Given the description of an element on the screen output the (x, y) to click on. 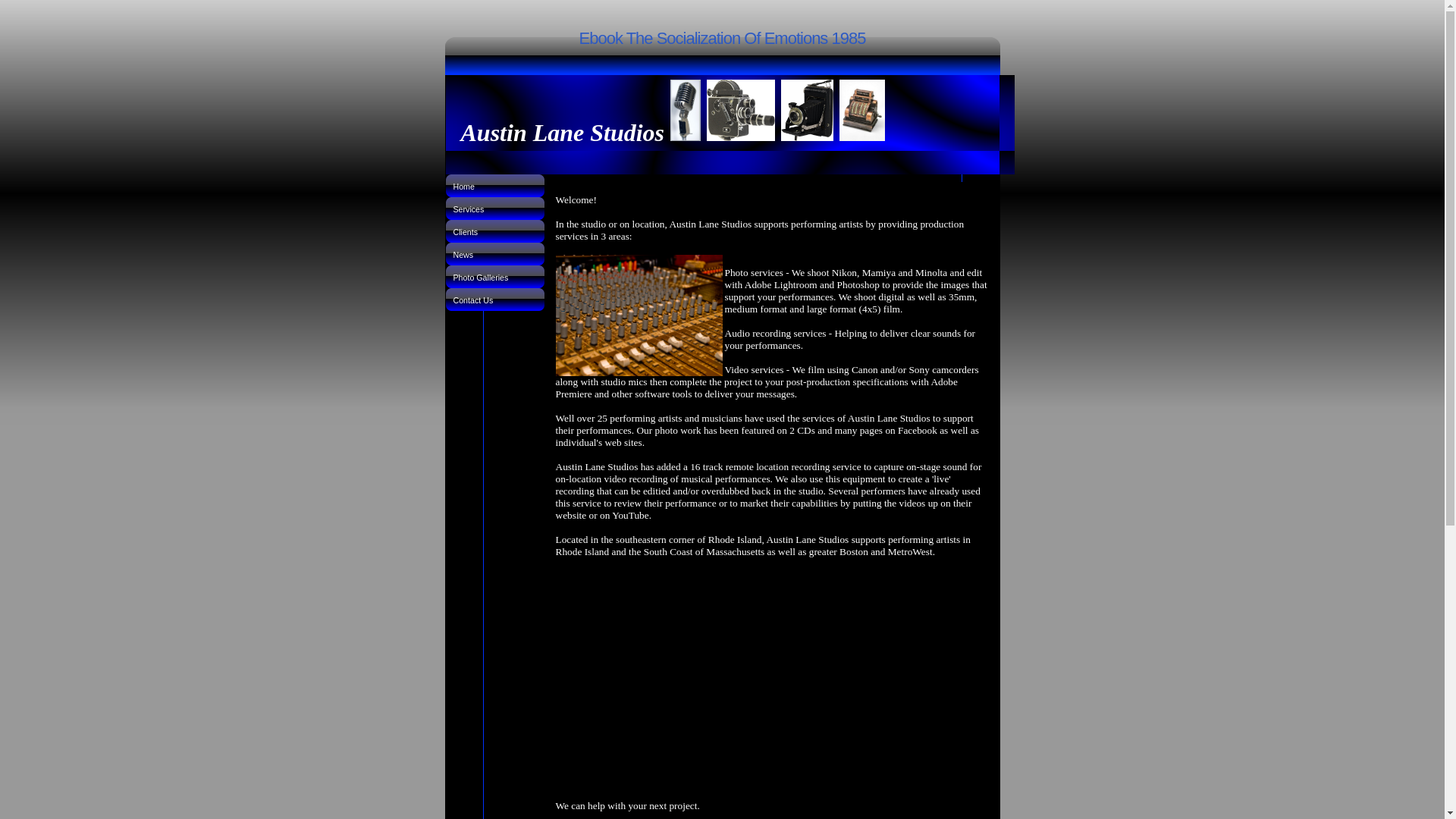
Clients (494, 231)
News (494, 253)
Services (494, 208)
Home (494, 185)
Photo Galleries (494, 276)
Contact Us (494, 299)
